Given the description of an element on the screen output the (x, y) to click on. 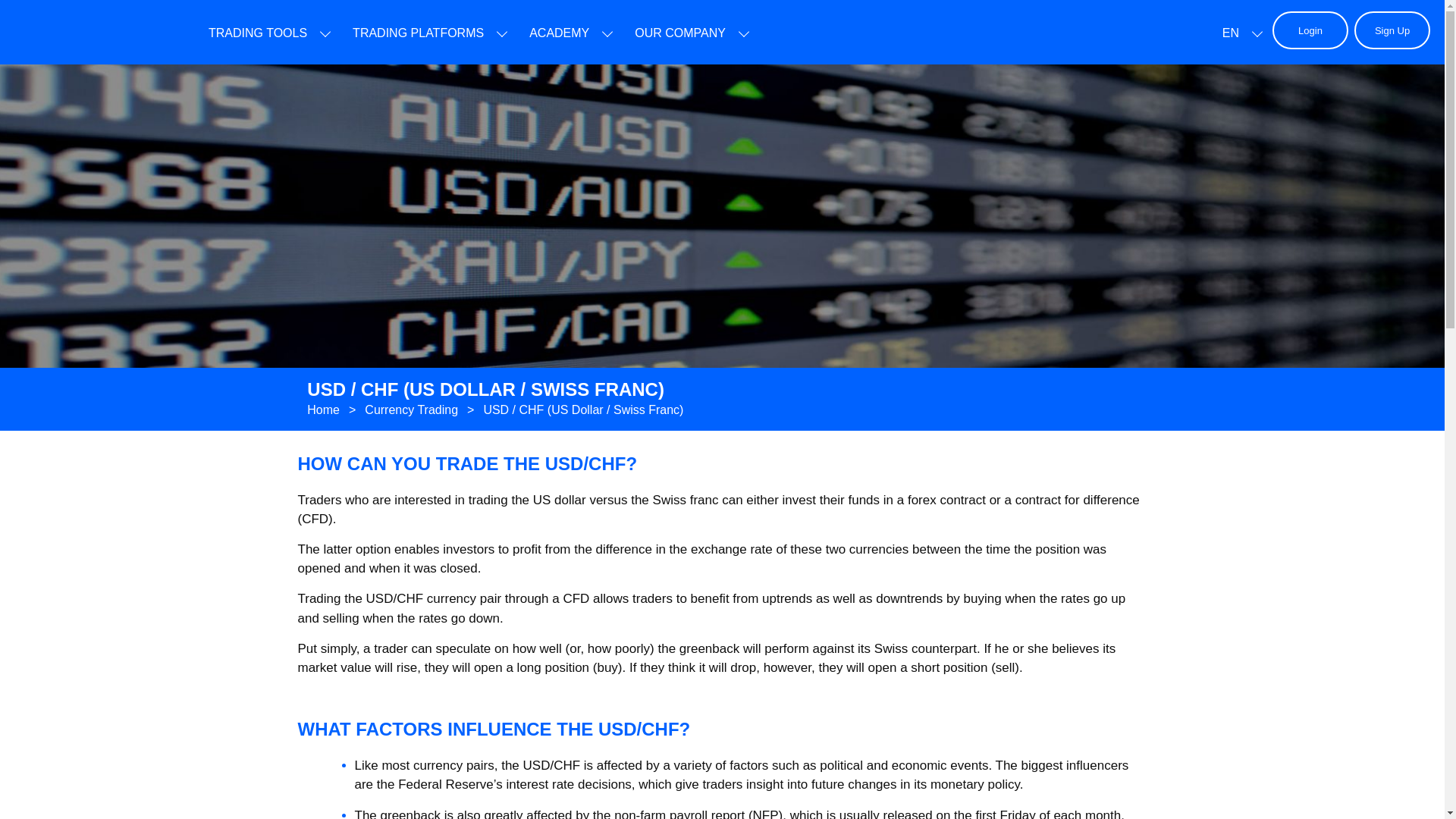
TRADING PLATFORMS (417, 33)
TRADING TOOLS (257, 33)
OUR COMPANY (679, 33)
ACADEMY (559, 33)
